Given the description of an element on the screen output the (x, y) to click on. 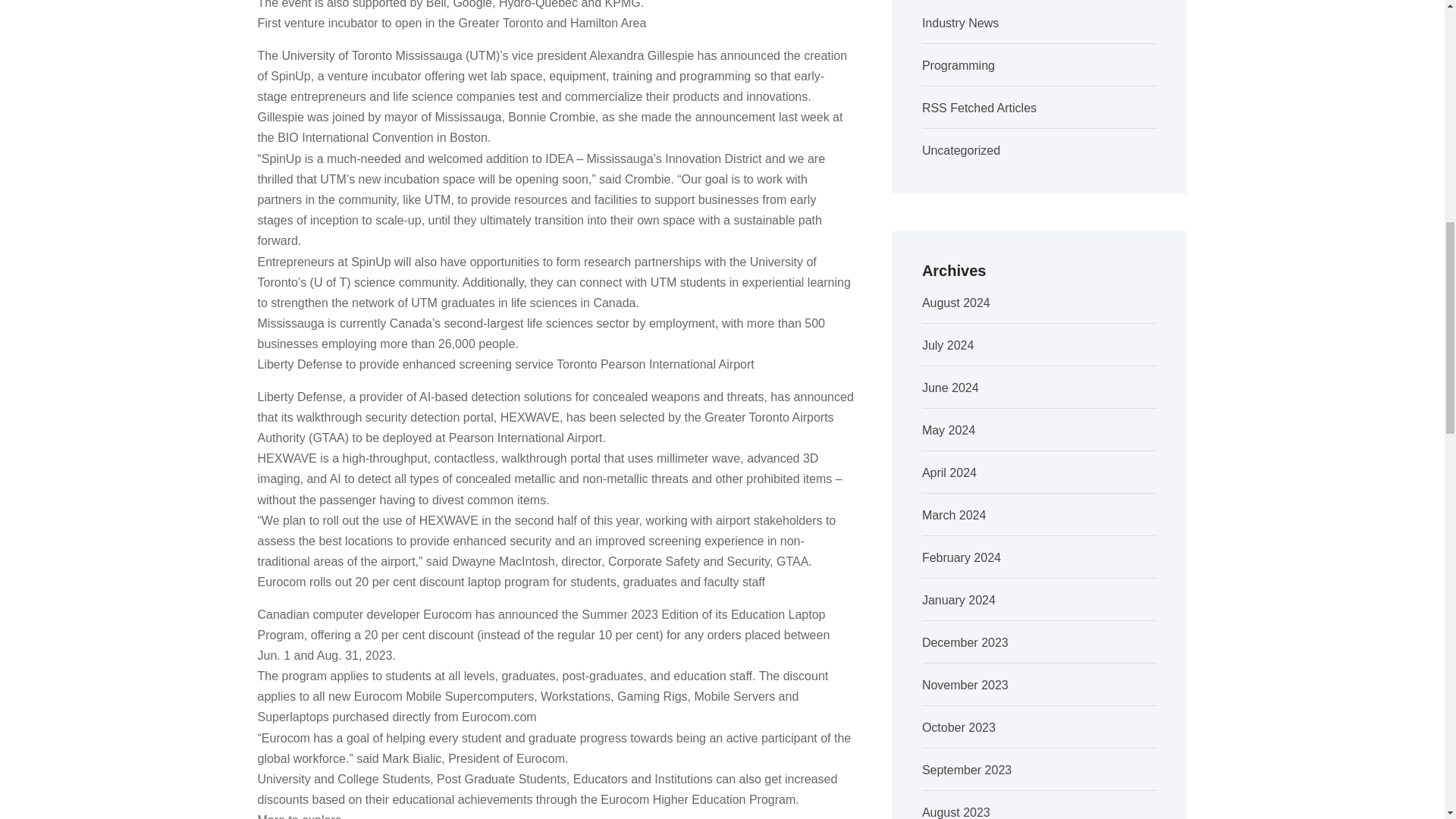
August 2024 (955, 302)
April 2024 (948, 472)
October 2023 (958, 727)
August 2023 (955, 812)
RSS Fetched Articles (978, 107)
July 2024 (947, 345)
January 2024 (958, 599)
September 2023 (966, 769)
Programming (957, 65)
March 2024 (954, 514)
